Given the description of an element on the screen output the (x, y) to click on. 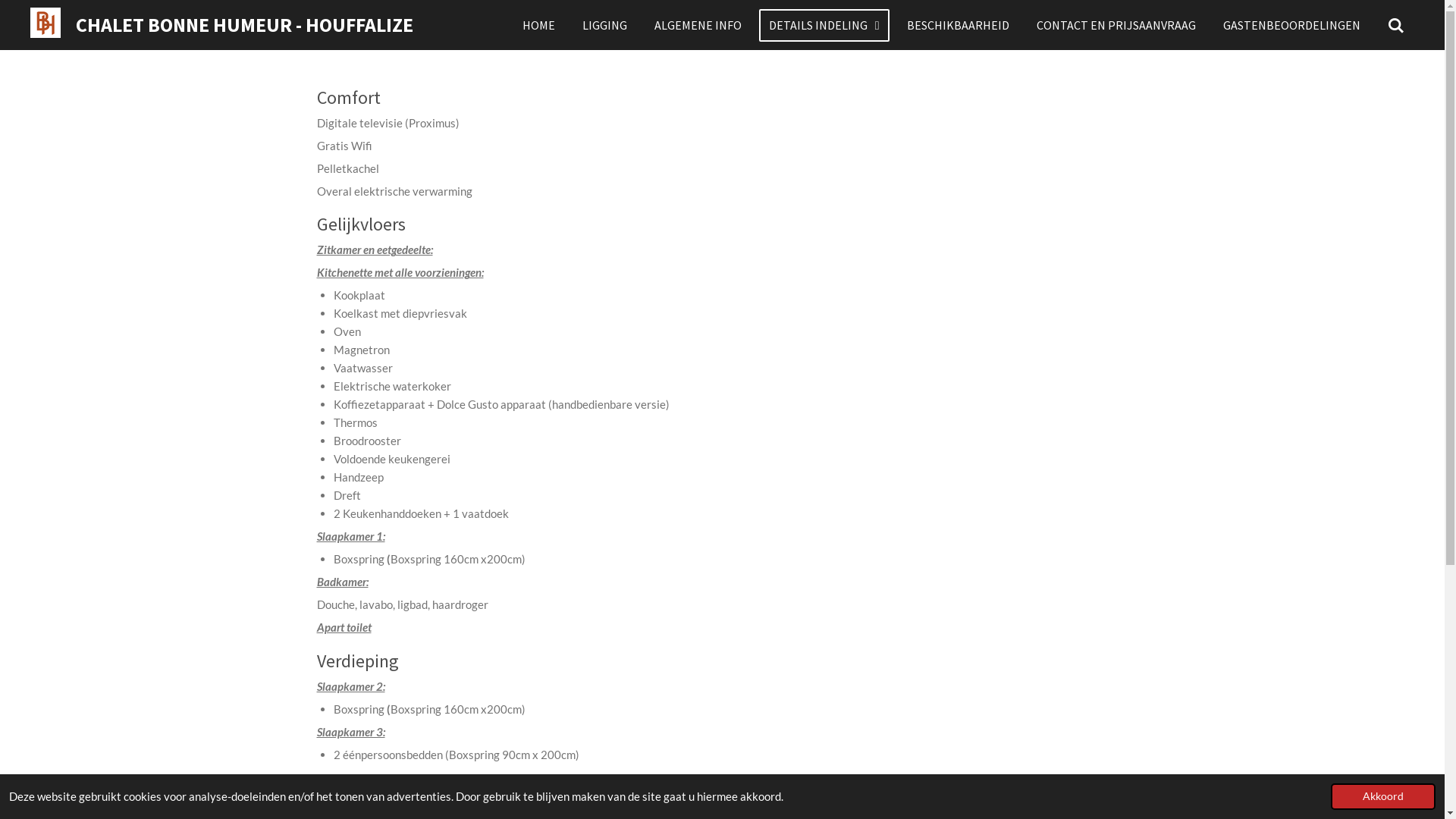
LIGGING Element type: text (604, 24)
www.chaletbonnehumeur.be Element type: hover (45, 22)
BESCHIKBAARHEID Element type: text (958, 24)
CONTACT EN PRIJSAANVRAAG Element type: text (1115, 24)
Zoeken Element type: hover (1395, 24)
ALGEMENE INFO Element type: text (697, 24)
Akkoord Element type: text (1382, 796)
GASTENBEOORDELINGEN Element type: text (1291, 24)
HOME Element type: text (538, 24)
DETAILS INDELING Element type: text (823, 25)
CHALET BONNE HUMEUR - HOUFFALIZE Element type: text (244, 24)
